Given the description of an element on the screen output the (x, y) to click on. 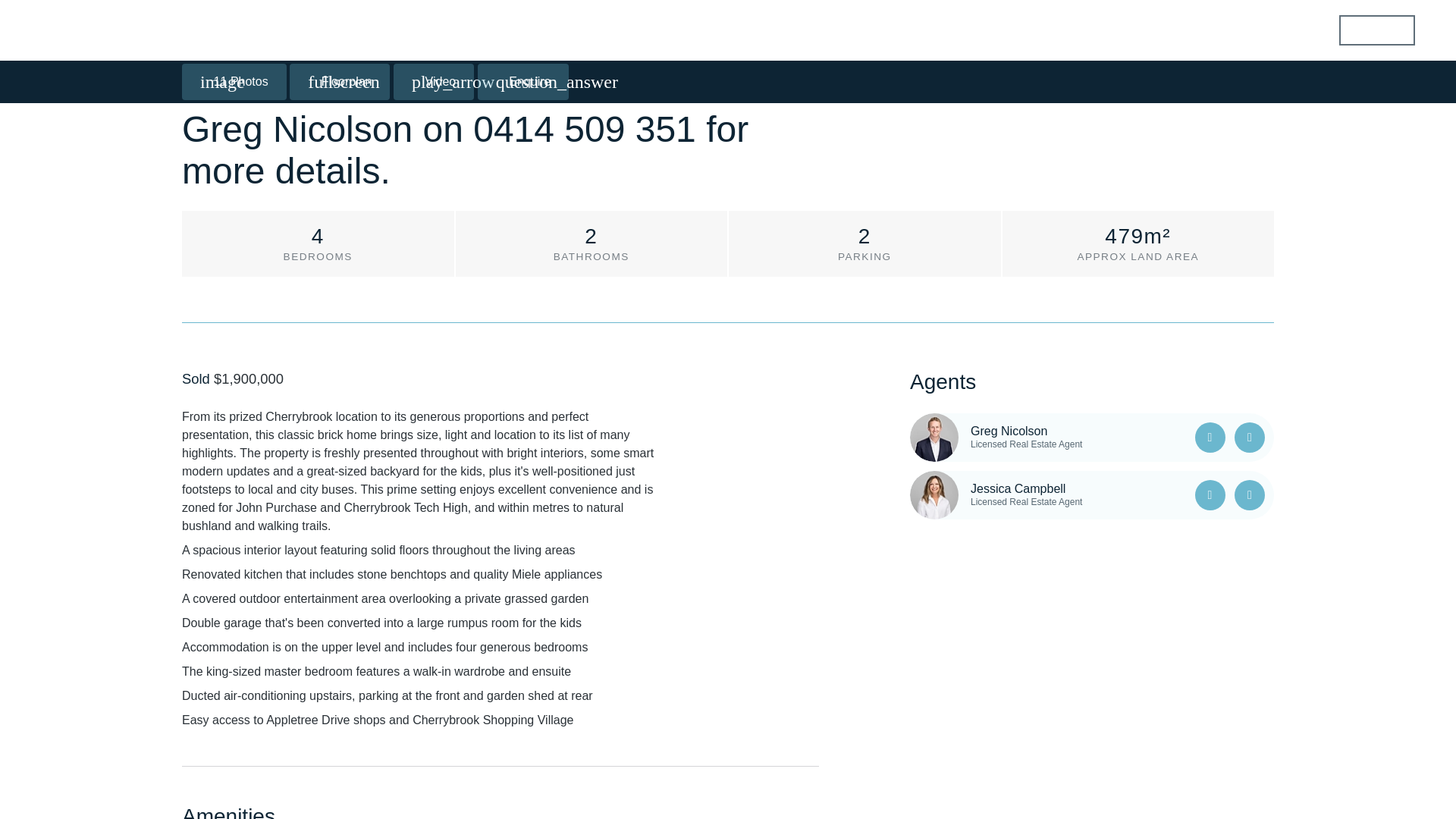
image 11 Photos (234, 1)
fullscreen Floorplan (339, 1)
